Given the description of an element on the screen output the (x, y) to click on. 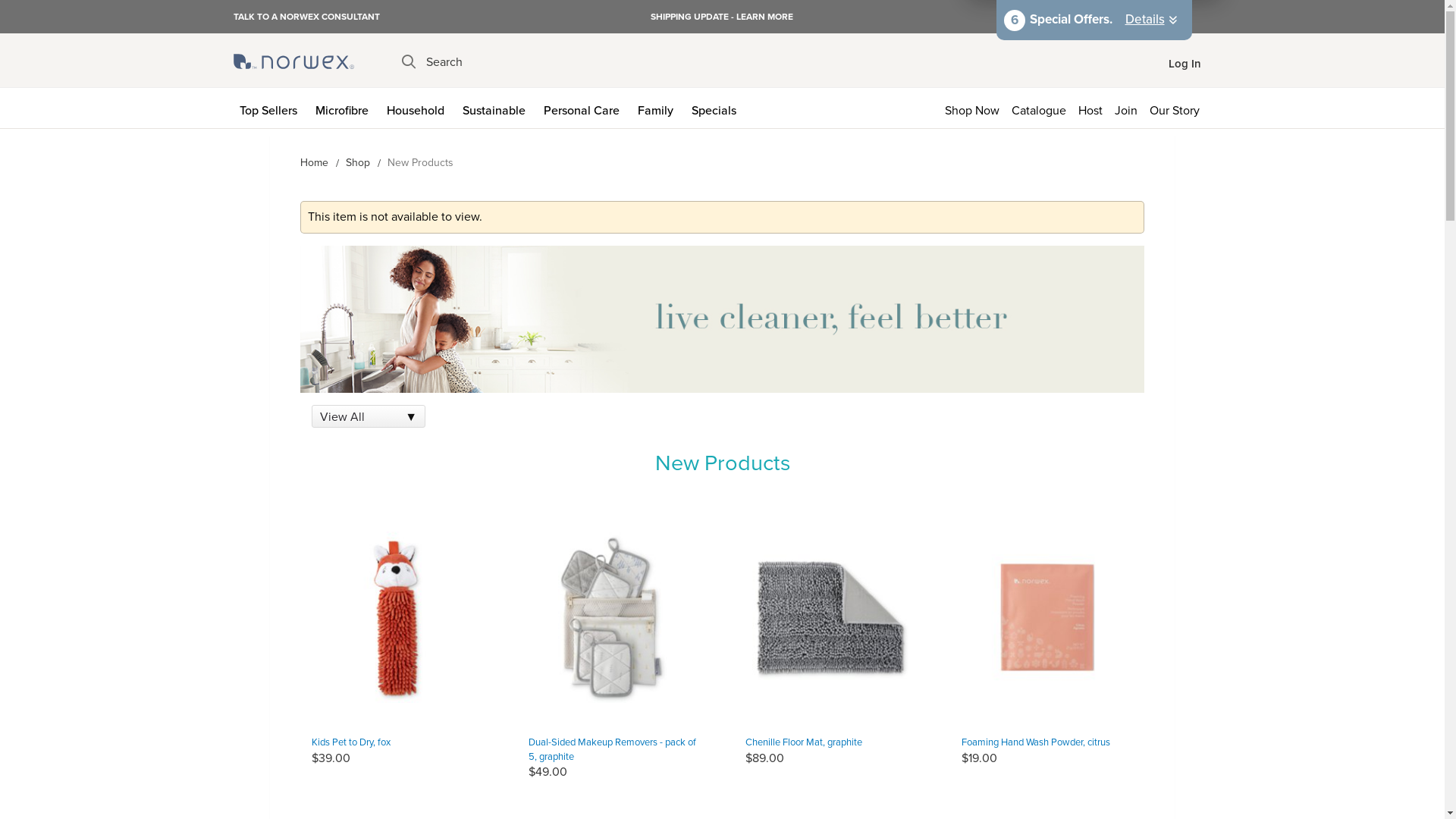
TALK TO A NORWEX CONSULTANT Element type: text (306, 15)
Our Story Element type: text (1177, 107)
Search Element type: text (431, 61)
Microfibre Element type: text (344, 107)
Join Element type: text (1125, 107)
Household Element type: text (418, 107)
Chenille Floor Mat, graphite Element type: text (802, 741)
Kids Pet to Dry, fox Element type: text (350, 741)
Shop Now Element type: text (971, 107)
Foaming Hand Wash Powder, citrus Element type: hover (1047, 616)
SHIPPING UPDATE - LEARN MORE Element type: text (721, 16)
Top Sellers Element type: text (271, 107)
Chenille Floor Mat, graphite Element type: hover (830, 616)
Sustainable Element type: text (496, 107)
Home Element type: text (314, 162)
Catalogue Element type: text (1038, 107)
Kids Pet to Dry, fox Element type: hover (396, 616)
Host Element type: text (1090, 107)
Foaming Hand Wash Powder, citrus Element type: text (1035, 741)
New Products Element type: hover (722, 318)
Dual-Sided Makeup Removers - pack of 5, graphite Element type: hover (613, 616)
Personal Care Element type: text (583, 107)
Family Element type: text (657, 107)
Shop Element type: text (357, 162)
Specials Element type: text (716, 107)
Dual-Sided Makeup Removers - pack of 5, graphite Element type: text (612, 748)
